Given the description of an element on the screen output the (x, y) to click on. 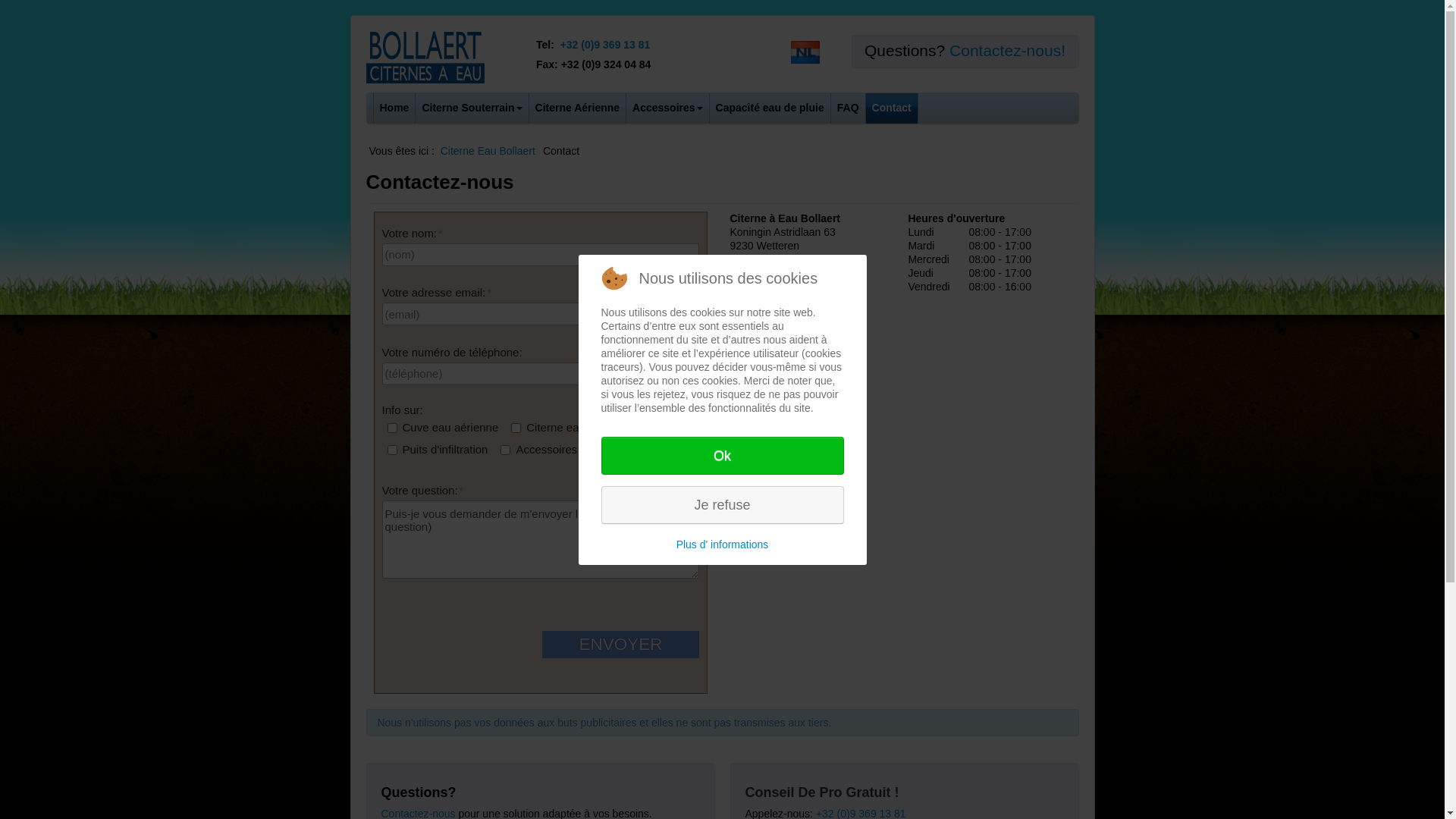
FAQ Element type: text (848, 108)
Citerne Eau Bollaert Element type: text (487, 150)
www.cuve.be Element type: text (760, 272)
Plus d' informations Element type: text (722, 544)
Contactez-nous! Element type: text (1007, 50)
Home Element type: text (393, 108)
Je refuse Element type: text (721, 504)
Citerne Souterrain Element type: text (471, 108)
+32 (0)9 369 13 81 Element type: text (605, 44)
Contact Element type: text (891, 108)
ENVOYER Element type: text (620, 644)
Ok Element type: text (721, 455)
Accessoires Element type: text (667, 108)
sales@bollaert.email Element type: text (778, 259)
